Given the description of an element on the screen output the (x, y) to click on. 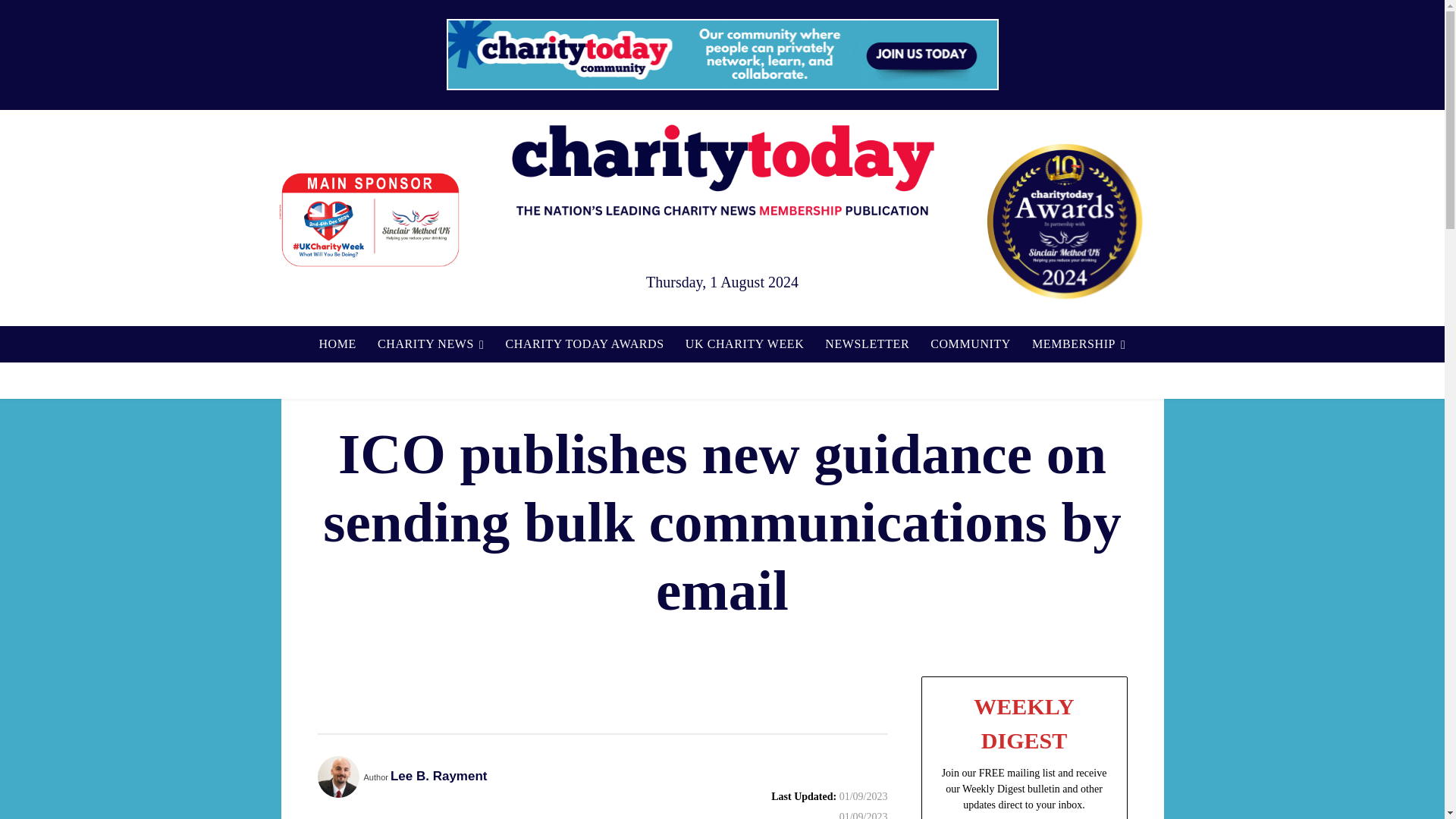
CHARITY NEWS (430, 343)
Charity Today Awards logo (1064, 221)
HOME (336, 343)
